Given the description of an element on the screen output the (x, y) to click on. 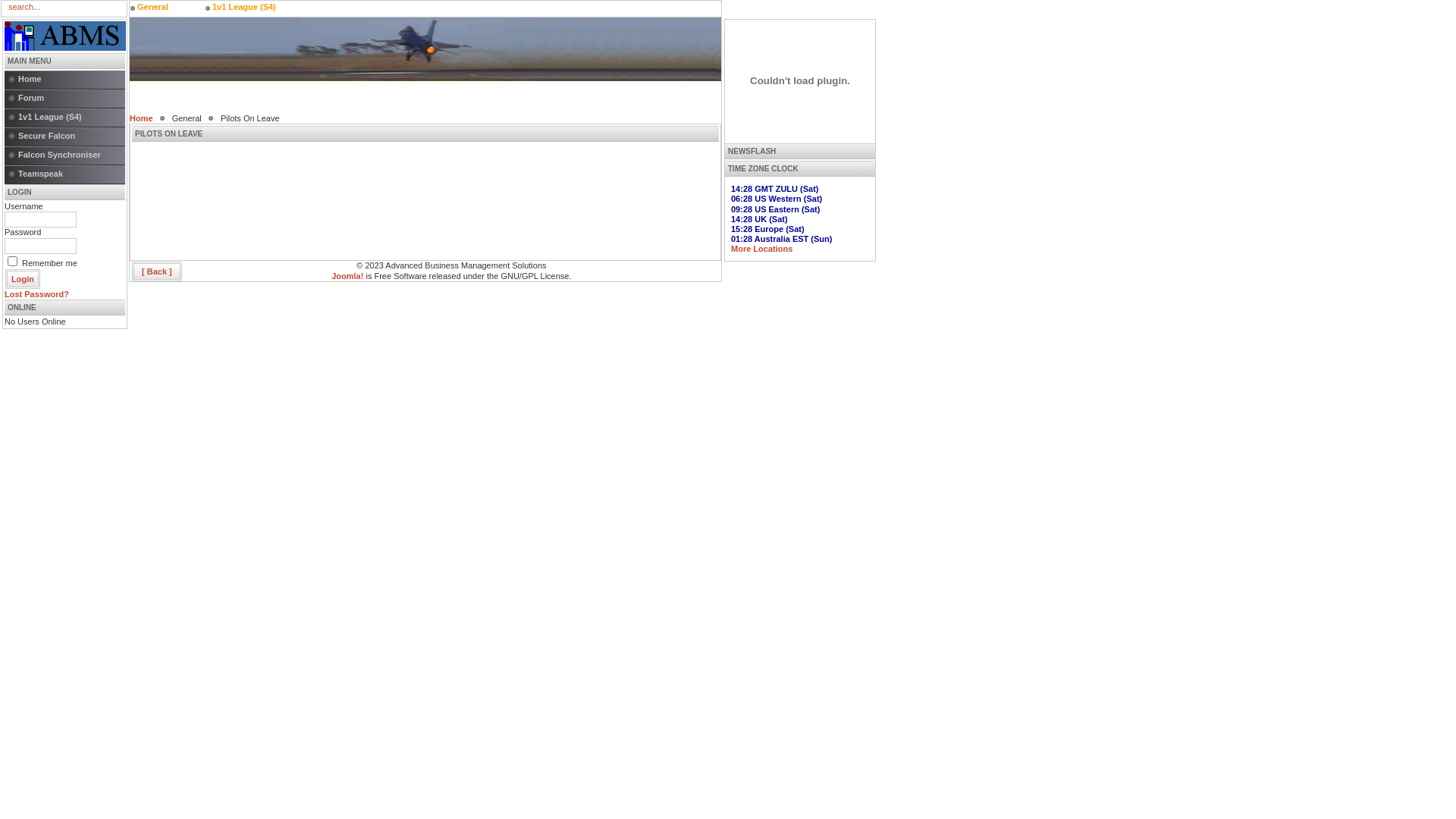
Secure Falcon Element type: text (64, 136)
Joomla! Element type: text (347, 275)
1v1 League (S4) Element type: text (64, 117)
Forum Element type: text (64, 98)
Home Element type: text (141, 117)
Advanced Business Management Solutions Element type: hover (64, 35)
Lost Password? Element type: text (36, 293)
  Element type: text (425, 49)
Teamspeak Element type: text (64, 174)
General Element type: text (170, 6)
[ Back ] Element type: text (156, 271)
Login Element type: text (22, 278)
Falcon Synchroniser Element type: text (64, 155)
1v1 League (S4) Element type: text (245, 6)
More Locations Element type: text (761, 248)
Home Element type: text (64, 79)
